Given the description of an element on the screen output the (x, y) to click on. 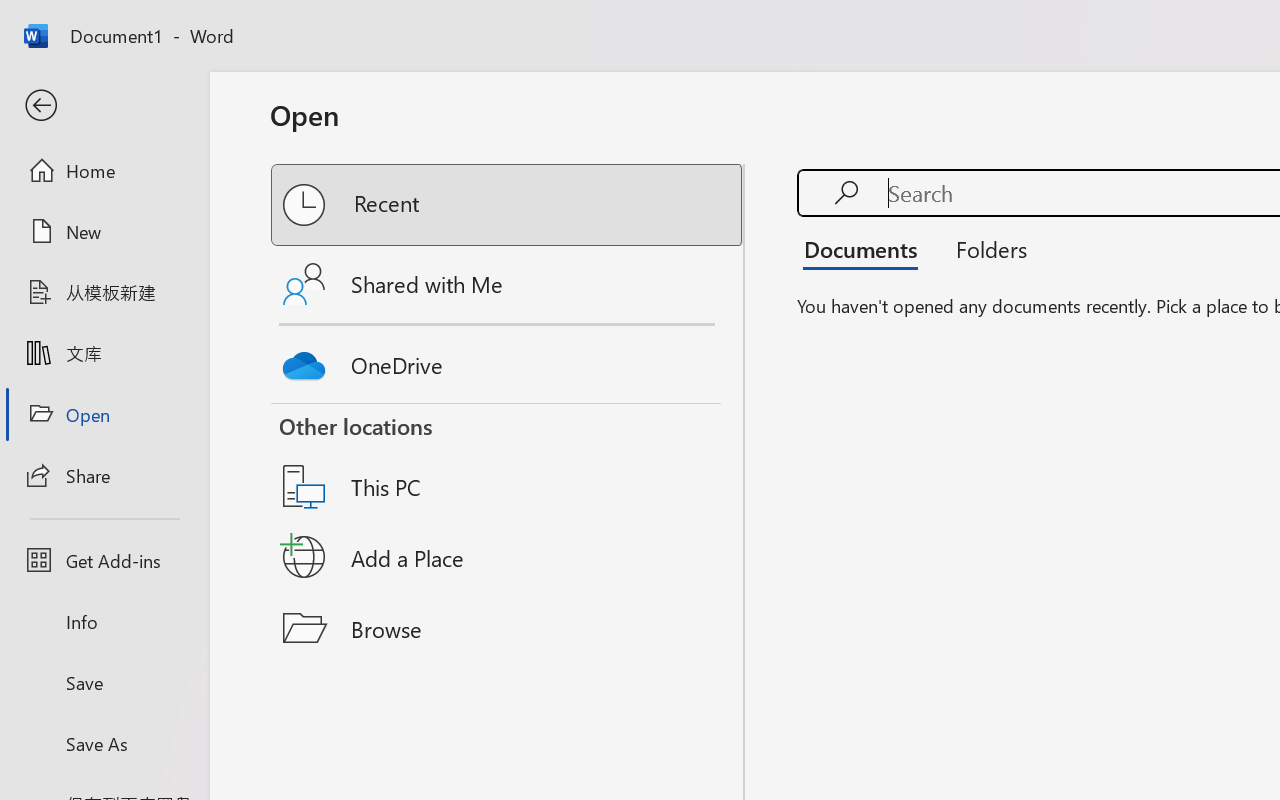
OneDrive (507, 359)
Add a Place (507, 557)
Back (104, 106)
This PC (507, 461)
Shared with Me (507, 283)
